Given the description of an element on the screen output the (x, y) to click on. 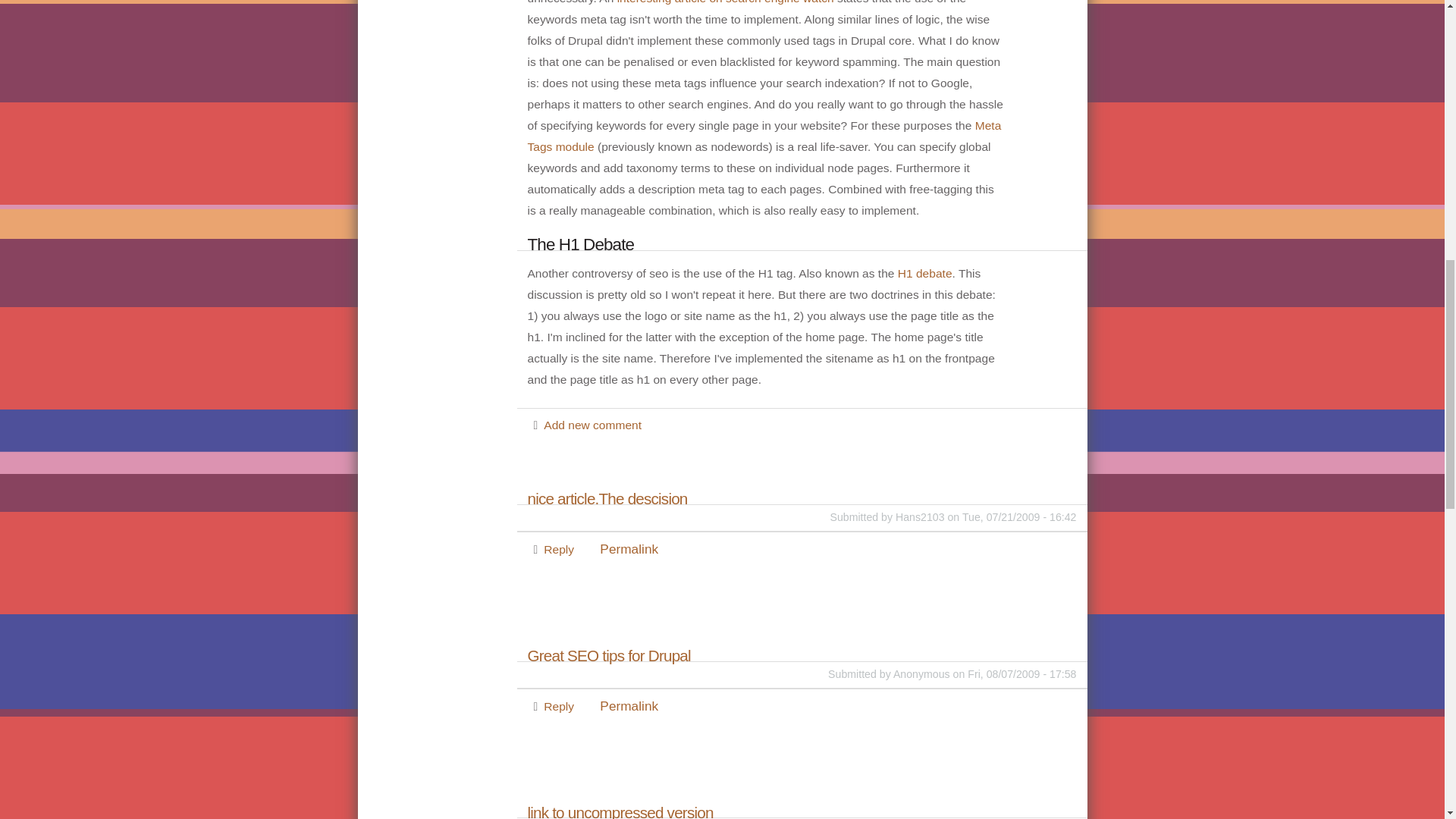
Reply (558, 706)
Meta Tags module (764, 135)
H1 debate (925, 273)
link to uncompressed version (801, 813)
Permalink (628, 548)
Permalink (628, 705)
Great SEO tips for Drupal (801, 655)
Reply (558, 549)
Share your thoughts and opinions. (592, 424)
Add new comment (592, 424)
